Given the description of an element on the screen output the (x, y) to click on. 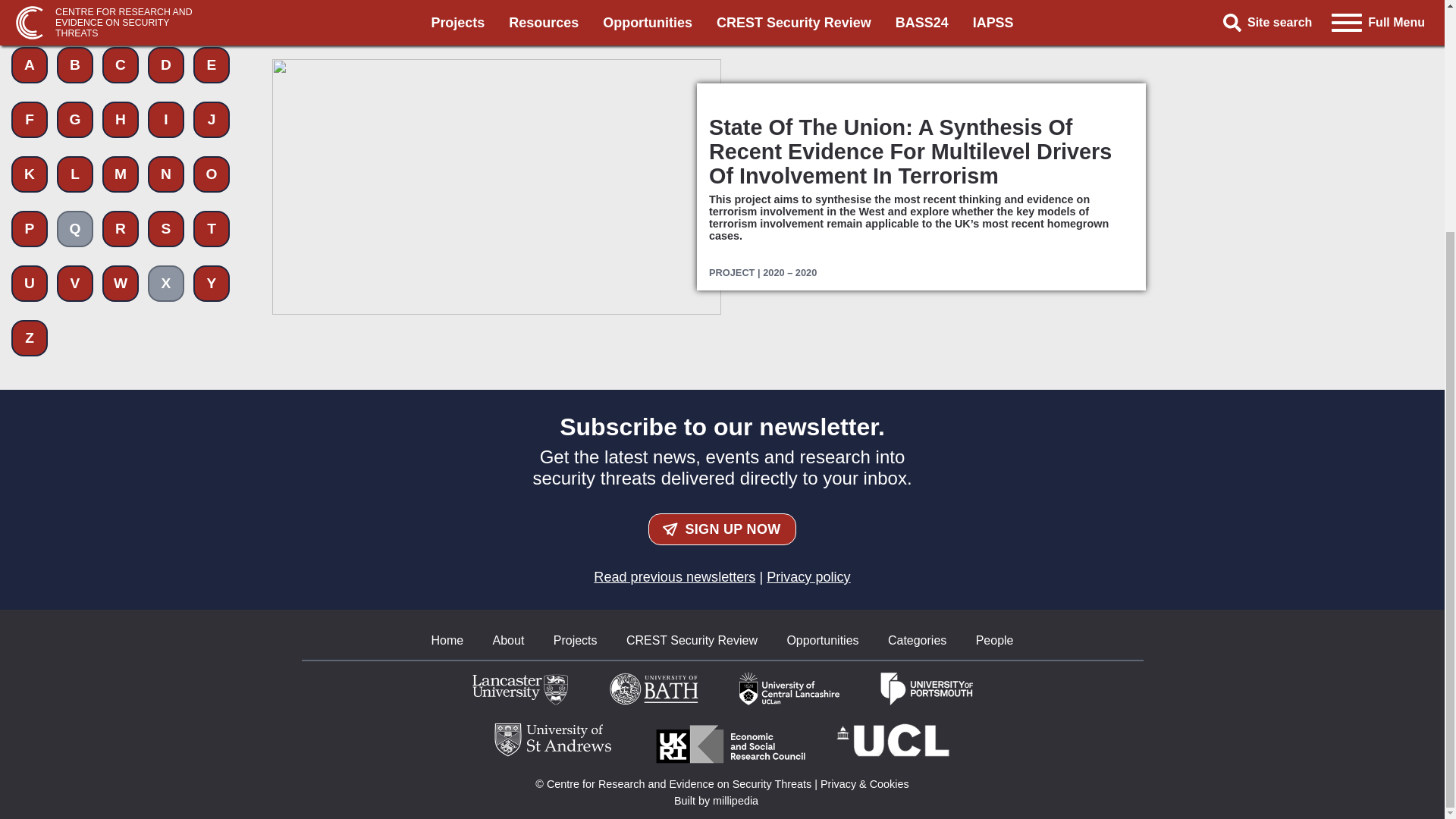
U (29, 6)
SIGN UP NOW (721, 529)
W (119, 6)
Read previous newsletters (674, 576)
Z (29, 49)
Y (211, 6)
V (74, 6)
